Given the description of an element on the screen output the (x, y) to click on. 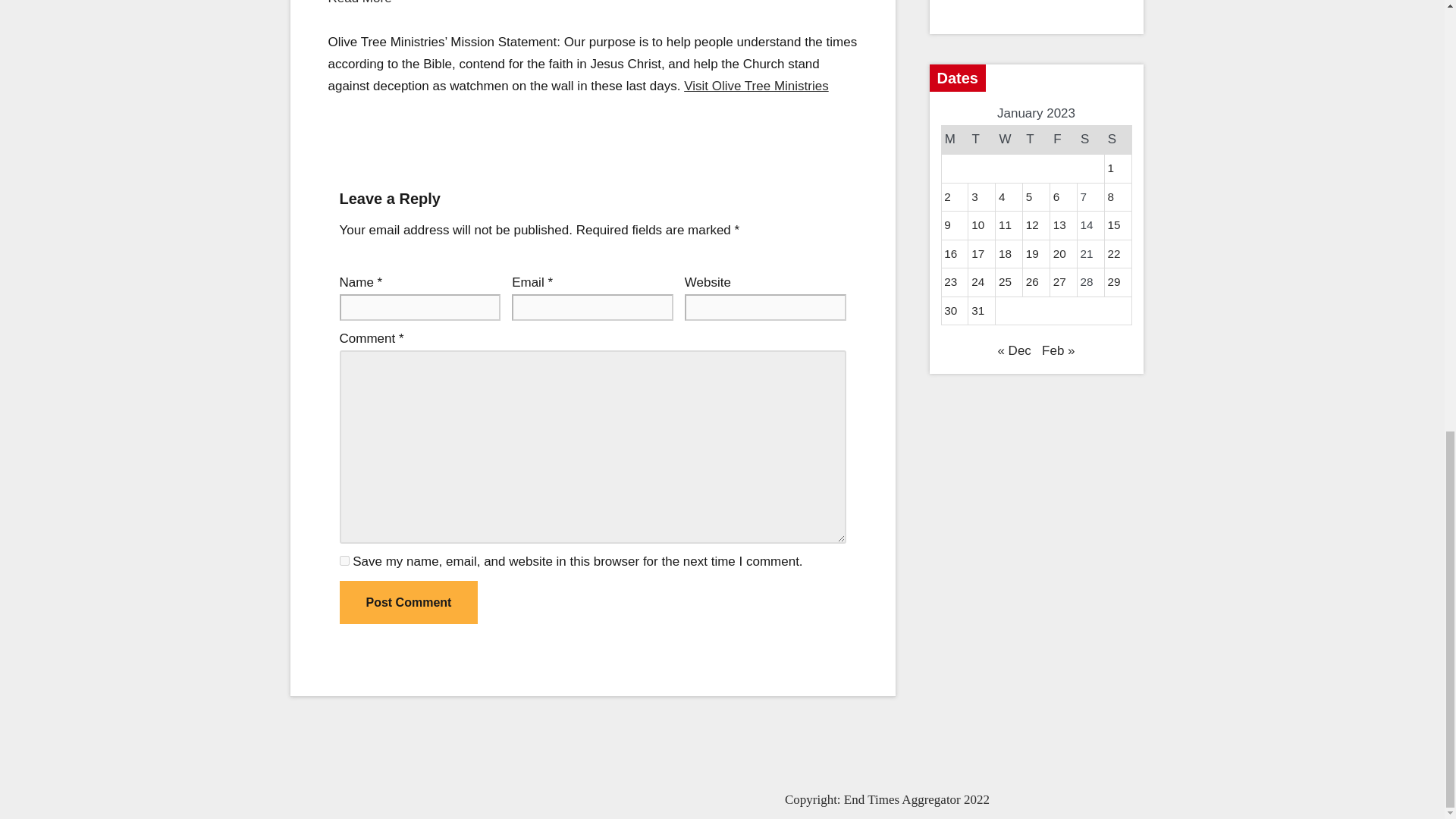
Saturday (1090, 139)
Tuesday (981, 139)
Sunday (1117, 139)
9 (946, 224)
Wednesday (1009, 139)
Visit Olive Tree Ministries (756, 85)
Post Comment (409, 602)
2 (946, 196)
Post Comment (409, 602)
Thursday (1036, 139)
3 (974, 196)
Friday (1063, 139)
yes (344, 560)
Read More (360, 2)
6 (1055, 196)
